Given the description of an element on the screen output the (x, y) to click on. 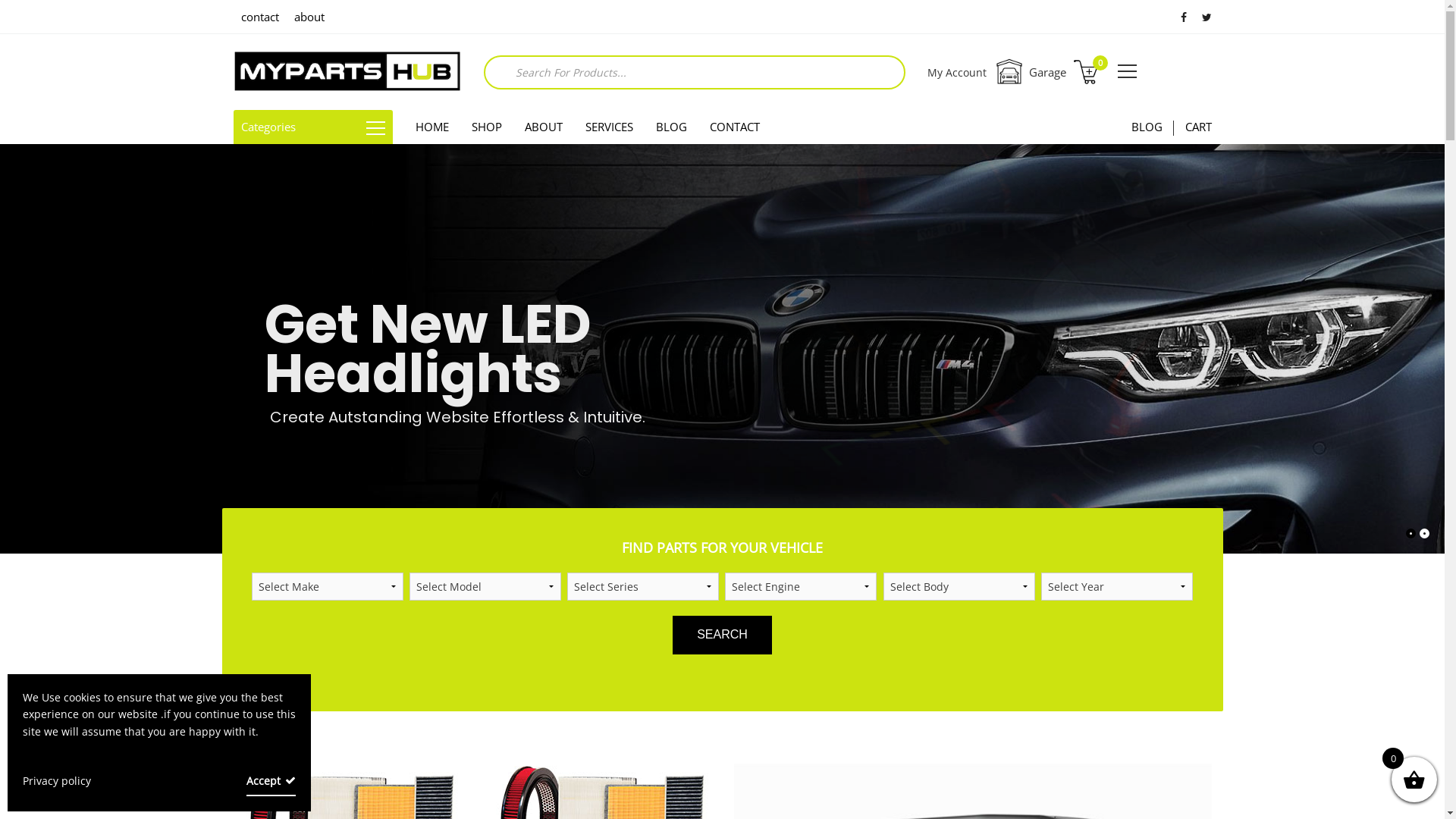
Home Element type: hover (347, 71)
CONTACT Element type: text (733, 126)
contact Element type: text (259, 16)
about Element type: text (309, 16)
Categories Element type: text (312, 126)
HOME Element type: text (431, 126)
SEARCH Element type: text (721, 634)
Privacy policy Element type: text (64, 780)
Garage Element type: text (1030, 71)
CART Element type: text (1198, 126)
BLOG Element type: text (1146, 126)
Accept Element type: text (270, 781)
My Account Element type: text (956, 72)
SERVICES Element type: text (608, 126)
ABOUT Element type: text (542, 126)
SHOP Element type: text (485, 126)
BLOG Element type: text (671, 126)
